Given the description of an element on the screen output the (x, y) to click on. 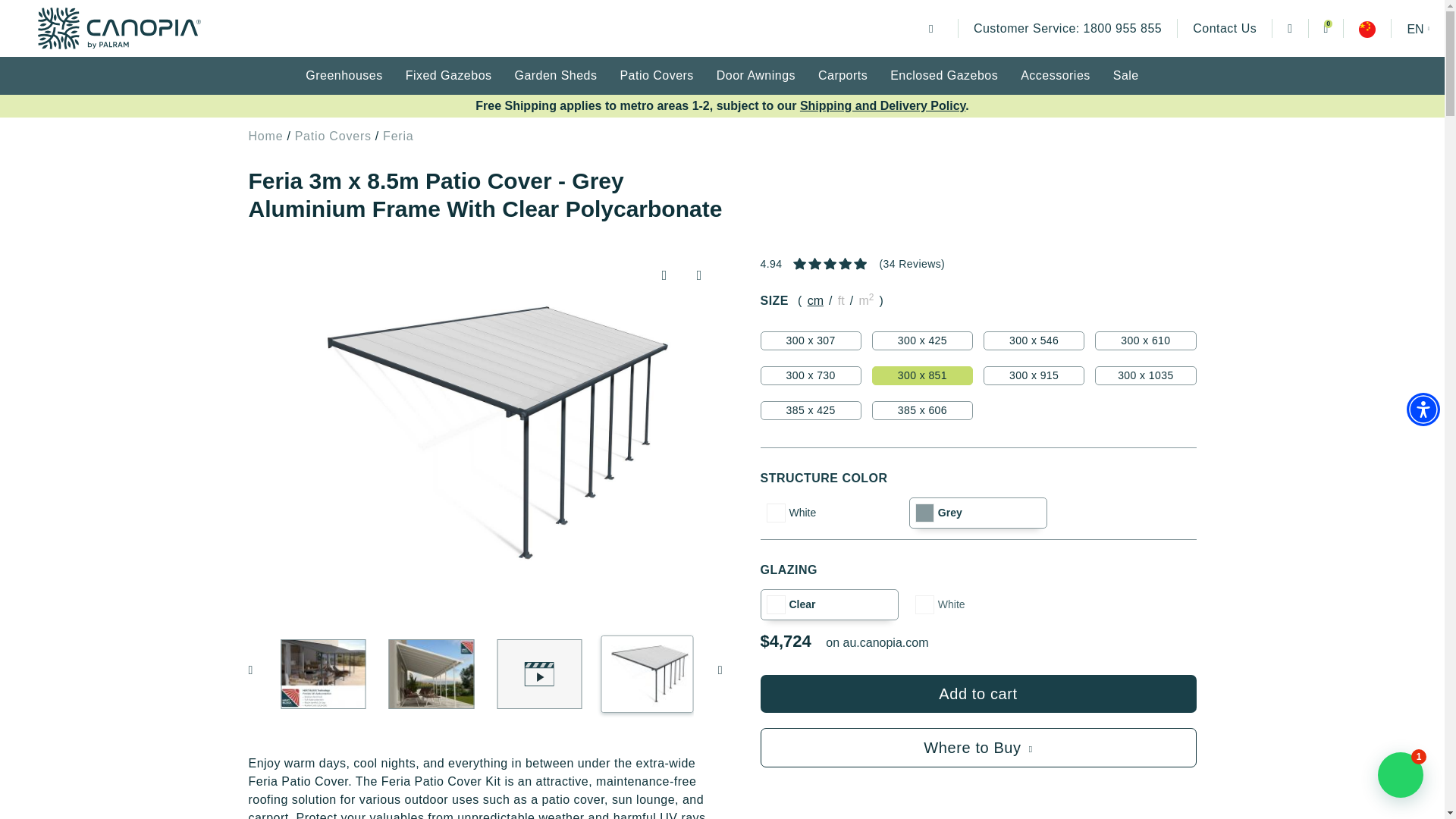
Customer Service: 1800 955 855 (1325, 27)
Home. (1067, 27)
Open search (265, 135)
Skip to content (928, 27)
Accessibility Menu (1289, 27)
Contact Us (1422, 409)
Feria. (1224, 27)
Canopia AU (397, 135)
Patio Covers. (118, 28)
